Given the description of an element on the screen output the (x, y) to click on. 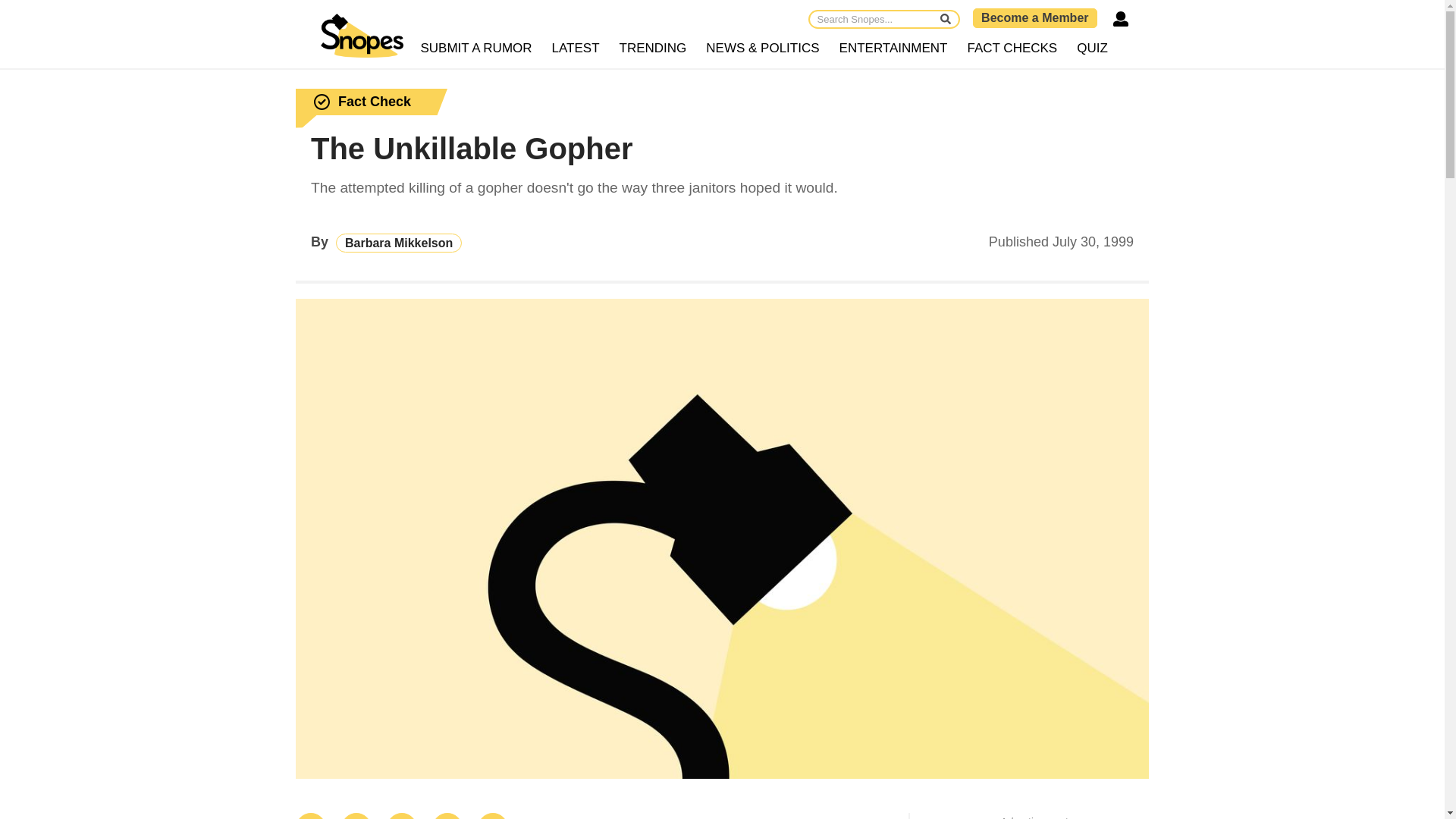
LATEST (576, 47)
FACT CHECKS (1011, 47)
Become a Member (1034, 17)
TRENDING (653, 47)
QUIZ (1092, 47)
ENTERTAINMENT (893, 47)
SUBMIT A RUMOR (475, 47)
Barbara Mikkelson (398, 242)
